Given the description of an element on the screen output the (x, y) to click on. 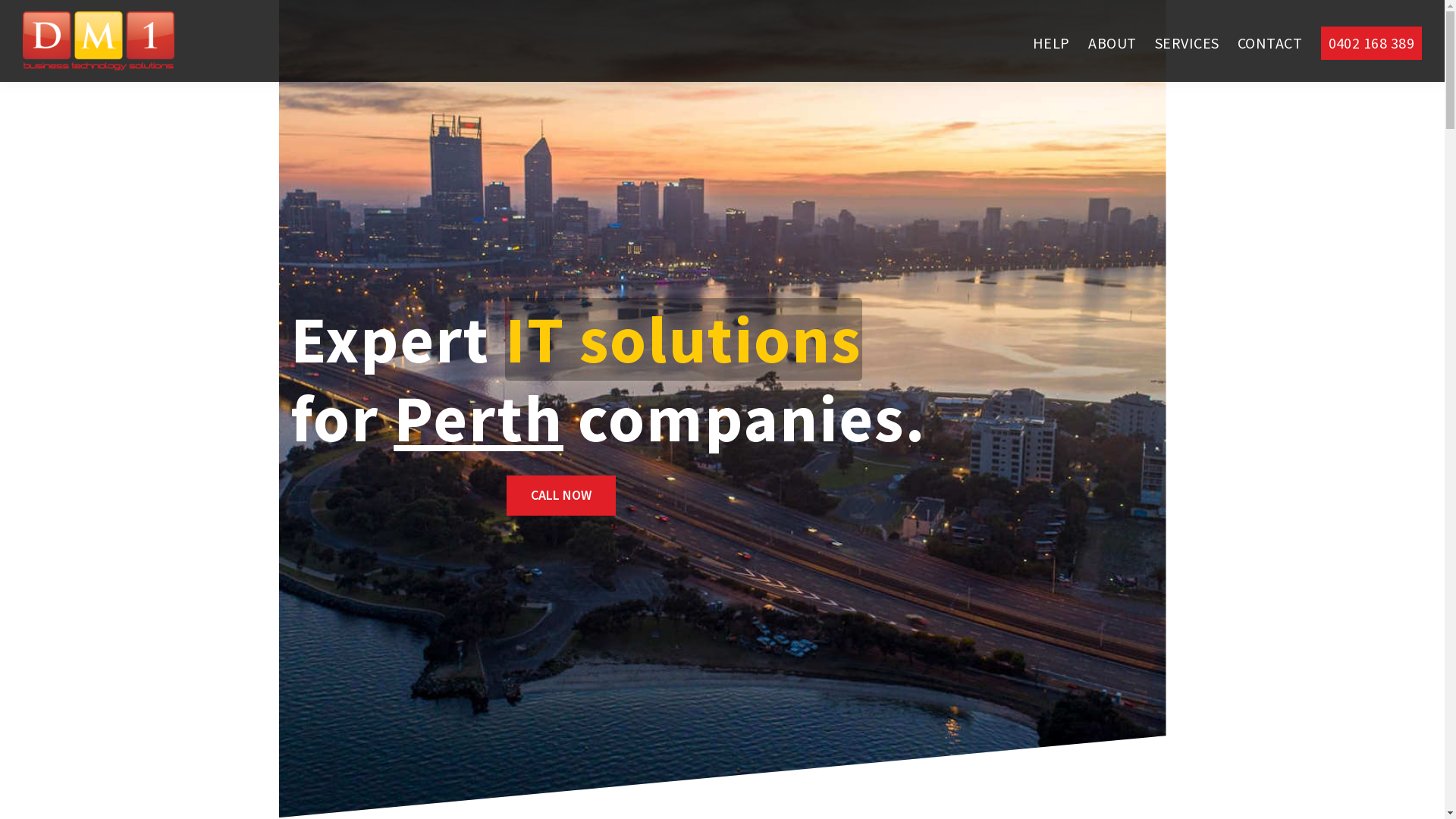
0402 168 389 Element type: text (1371, 42)
CALL NOW Element type: text (560, 495)
ABOUT Element type: text (1111, 42)
HELP Element type: text (1051, 42)
SERVICES Element type: text (1186, 42)
CONTACT Element type: text (1269, 42)
